Given the description of an element on the screen output the (x, y) to click on. 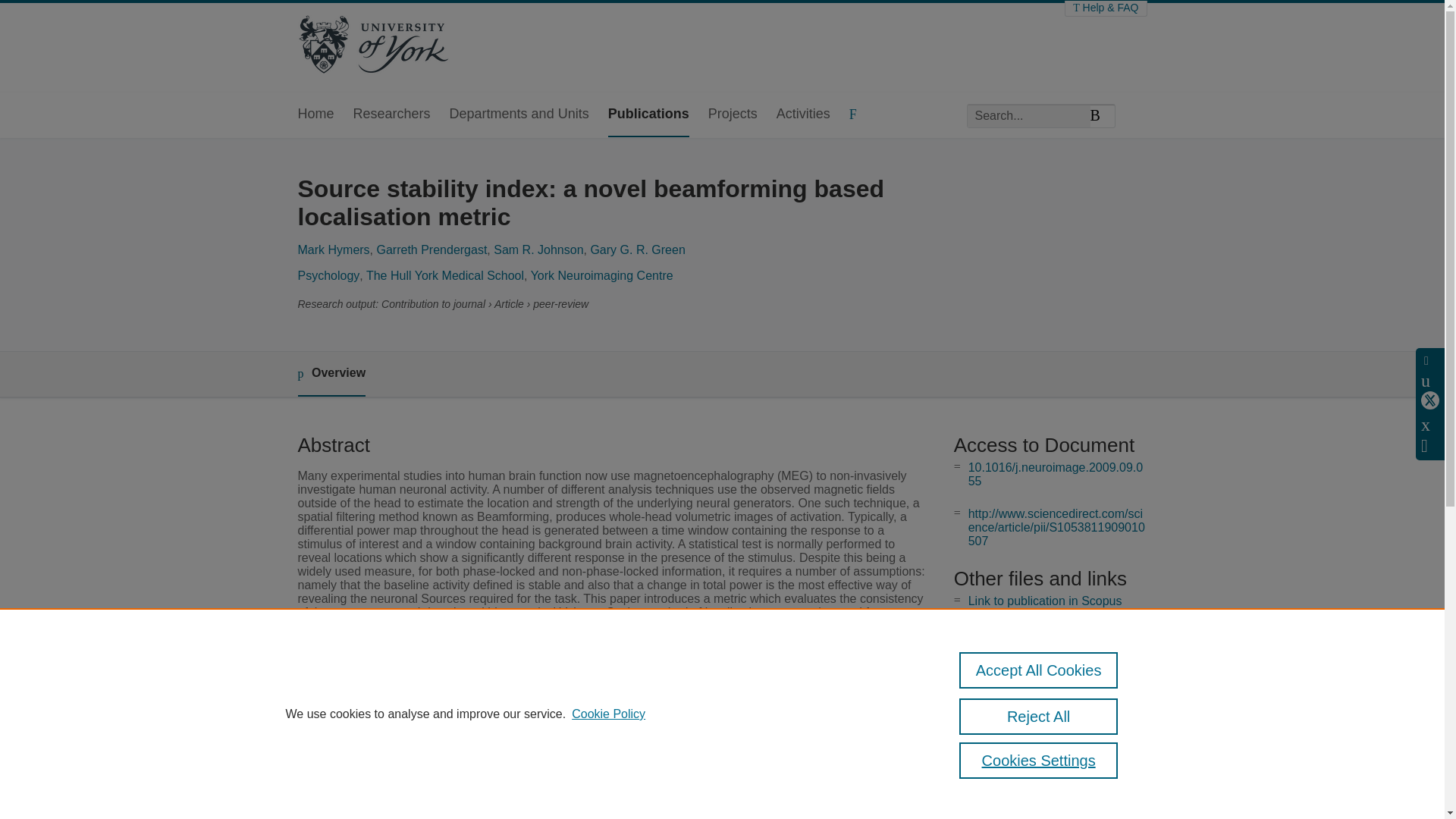
Gary G. R. Green (636, 249)
York Neuroimaging Centre (601, 275)
Activities (802, 114)
Mark Hymers (333, 249)
Projects (732, 114)
Researchers (391, 114)
Neuroimage (544, 757)
Overview (331, 374)
Sam R. Johnson (538, 249)
Garreth Prendergast (430, 249)
